Given the description of an element on the screen output the (x, y) to click on. 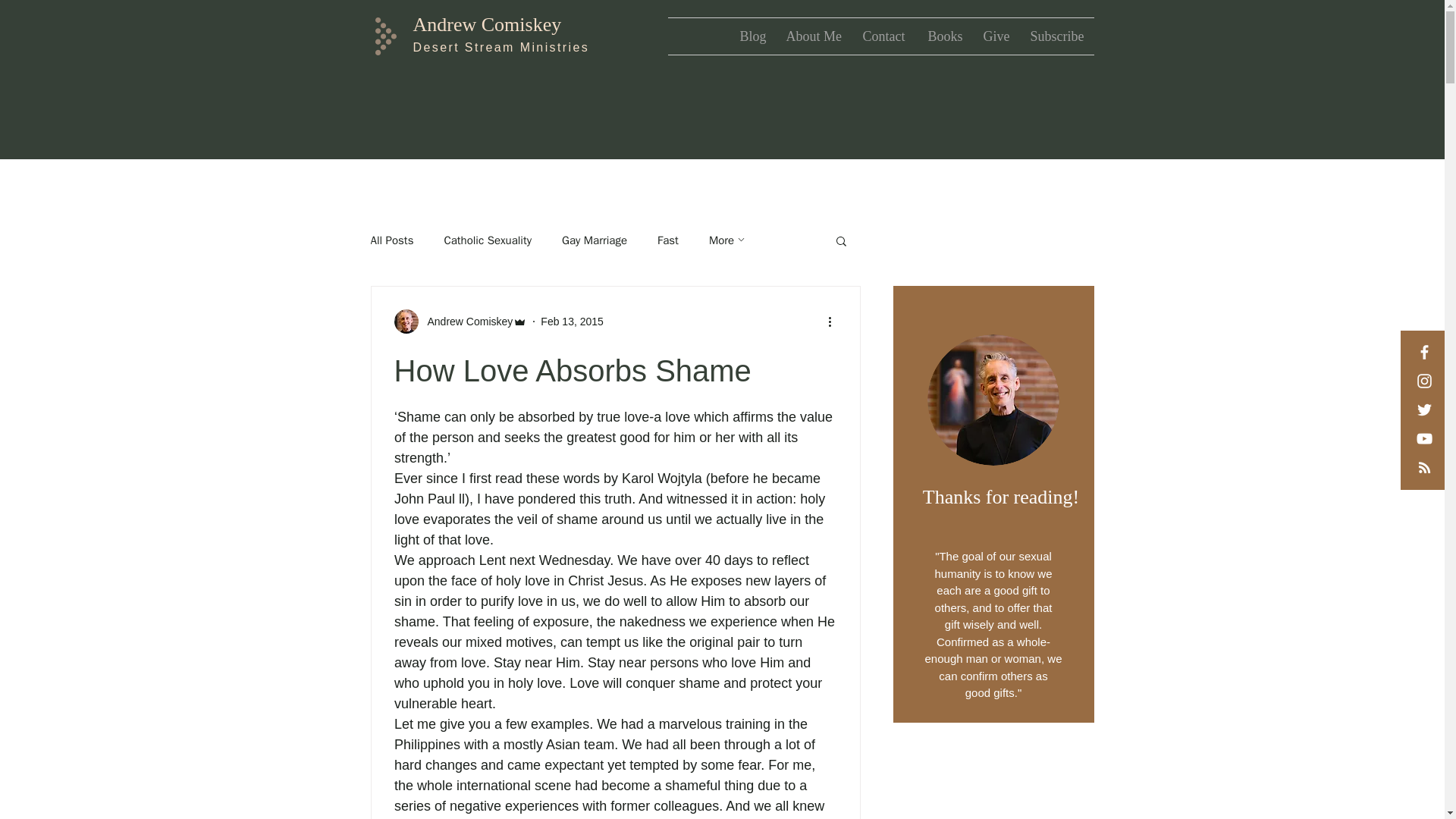
Andrew Comiskey (466, 321)
About Me (812, 36)
Gay Marriage (594, 240)
Desert Stream Ministries (500, 47)
Andrew Comiskey (486, 24)
Give (995, 36)
Catholic Sexuality (487, 240)
Contact (882, 36)
All Posts (391, 240)
Site Search (1181, 35)
